Given the description of an element on the screen output the (x, y) to click on. 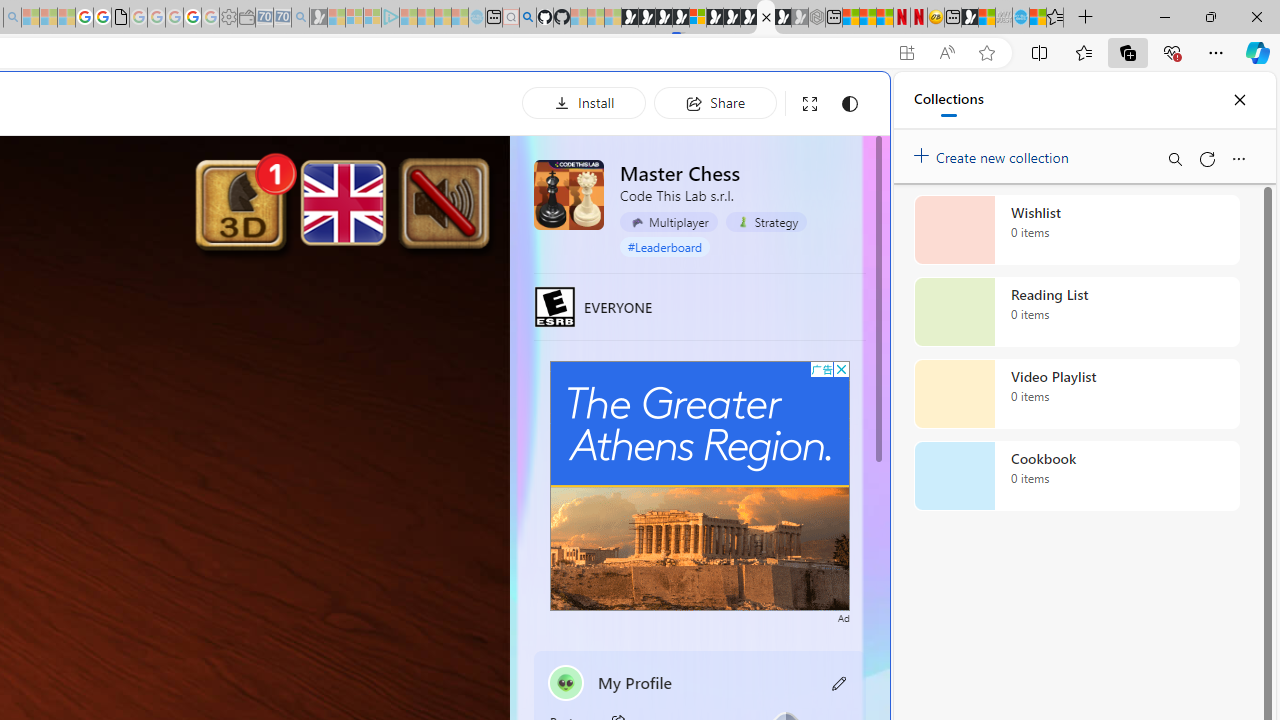
github - Search (527, 17)
Video Playlist collection, 0 items (1076, 394)
Multiplayer (668, 221)
Search or enter web address (343, 191)
Advertisement (699, 485)
Reading List collection, 0 items (1076, 312)
